Given the description of an element on the screen output the (x, y) to click on. 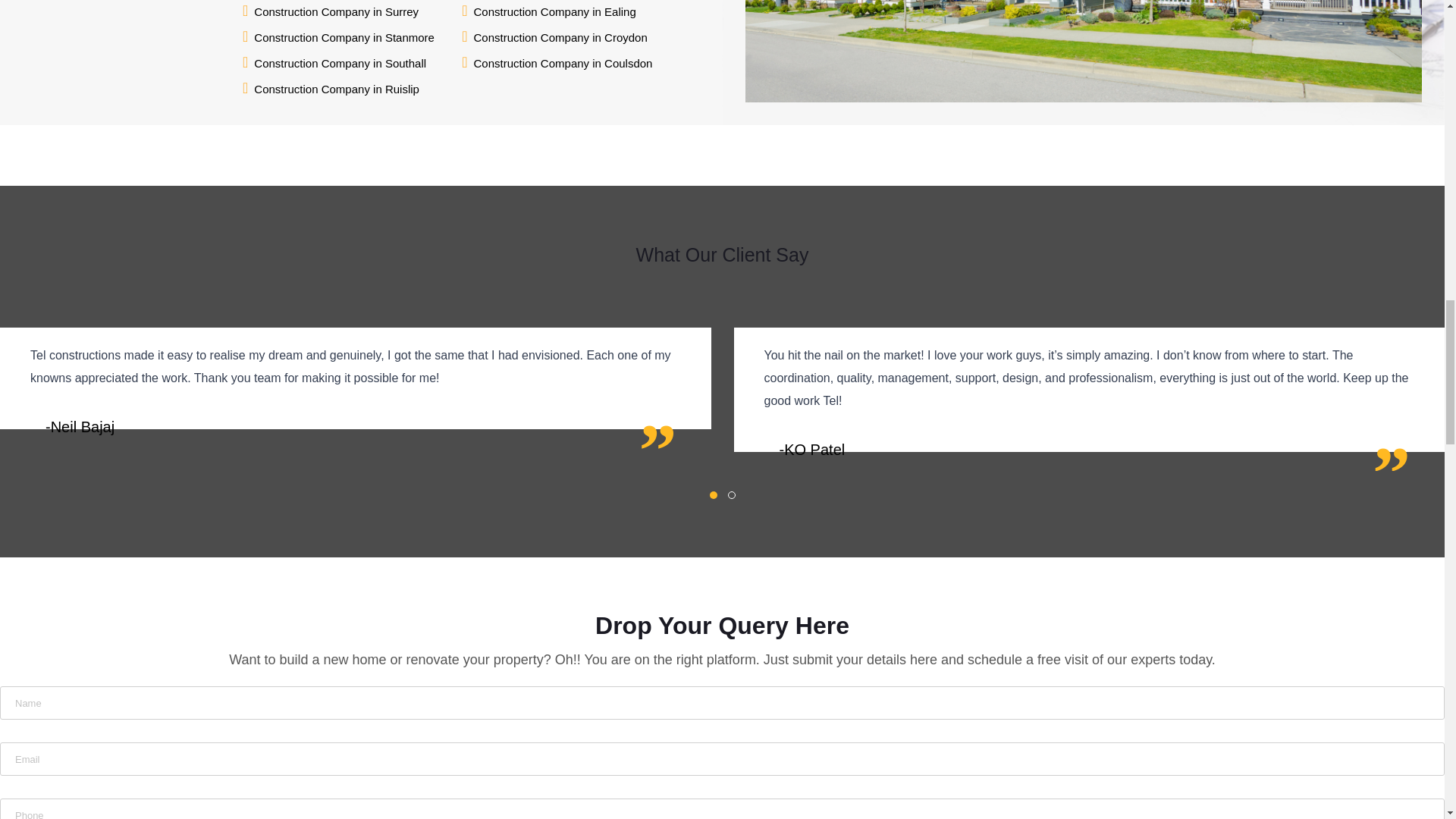
Construction Company in Ealing (553, 12)
Construction Company in Surrey (336, 12)
Construction Company in Coulsdon (562, 63)
Construction Company in Croydon (559, 37)
Construction Company in Stanmore (343, 37)
Construction Company in Ruislip (336, 89)
Construction Company in Southall (339, 63)
